Given the description of an element on the screen output the (x, y) to click on. 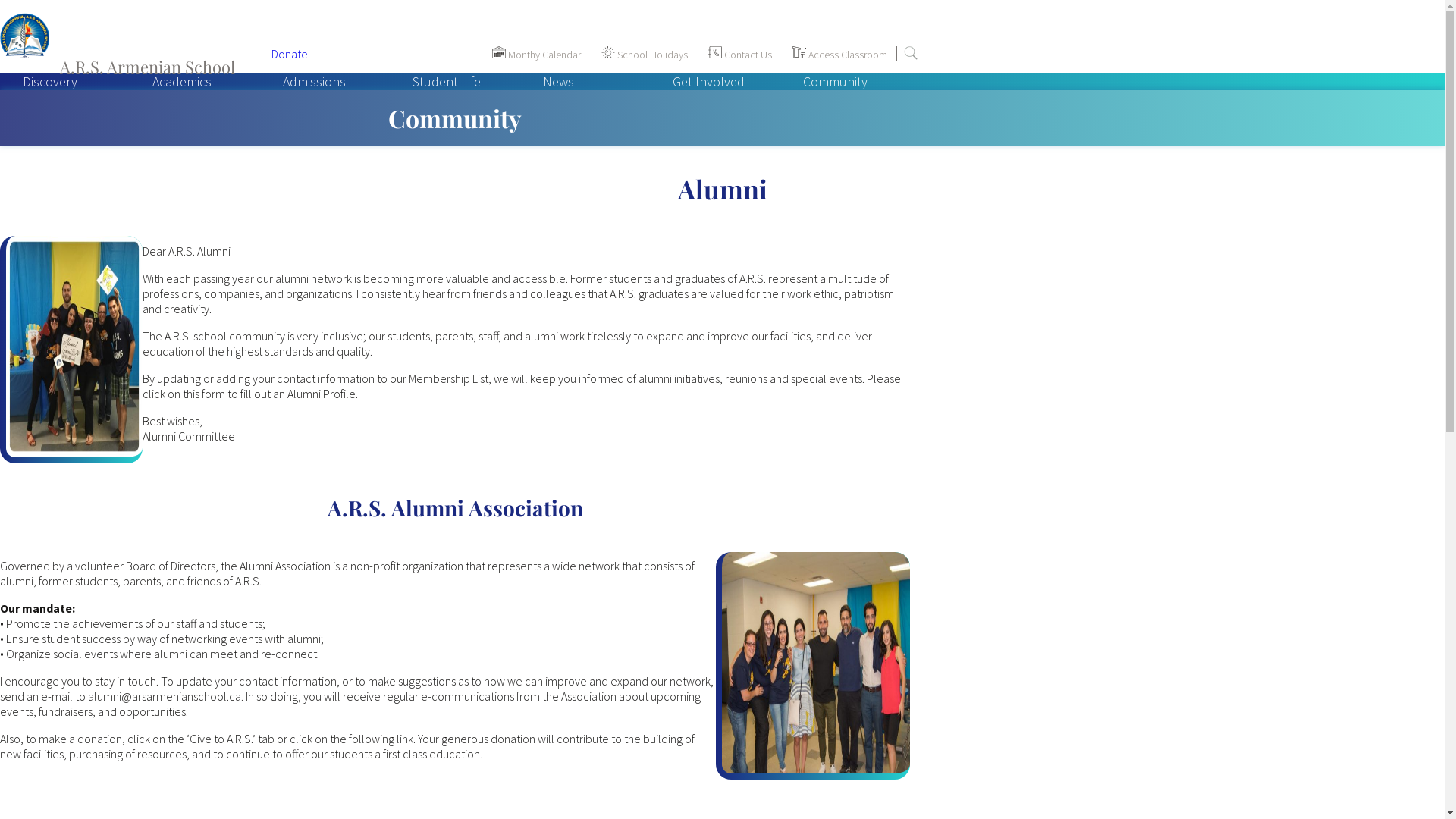
A.R.S. Armenian School Element type: text (128, 53)
Academics Element type: text (181, 81)
School Holidays Element type: text (644, 54)
Contact Us Element type: text (740, 54)
Donate Element type: text (289, 53)
Community Element type: text (835, 81)
Discovery Element type: text (50, 81)
Admissions Element type: text (314, 81)
Student Life Element type: text (446, 81)
Access Classroom Element type: text (839, 54)
Get Involved Element type: text (708, 81)
Monthy Calendar Element type: text (536, 54)
Rechercher Element type: text (910, 52)
News Element type: text (558, 81)
